Given the description of an element on the screen output the (x, y) to click on. 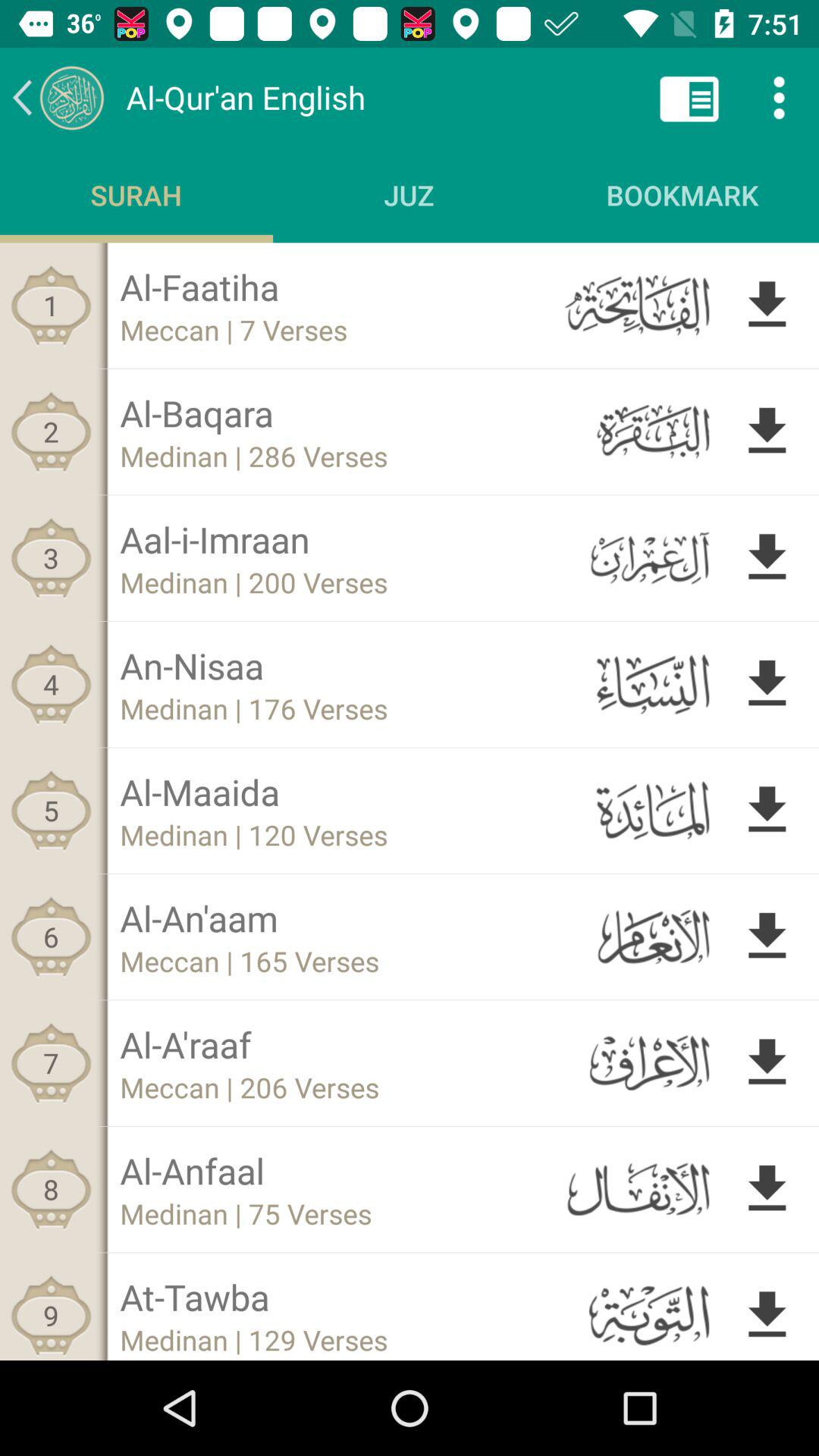
download button (767, 683)
